Given the description of an element on the screen output the (x, y) to click on. 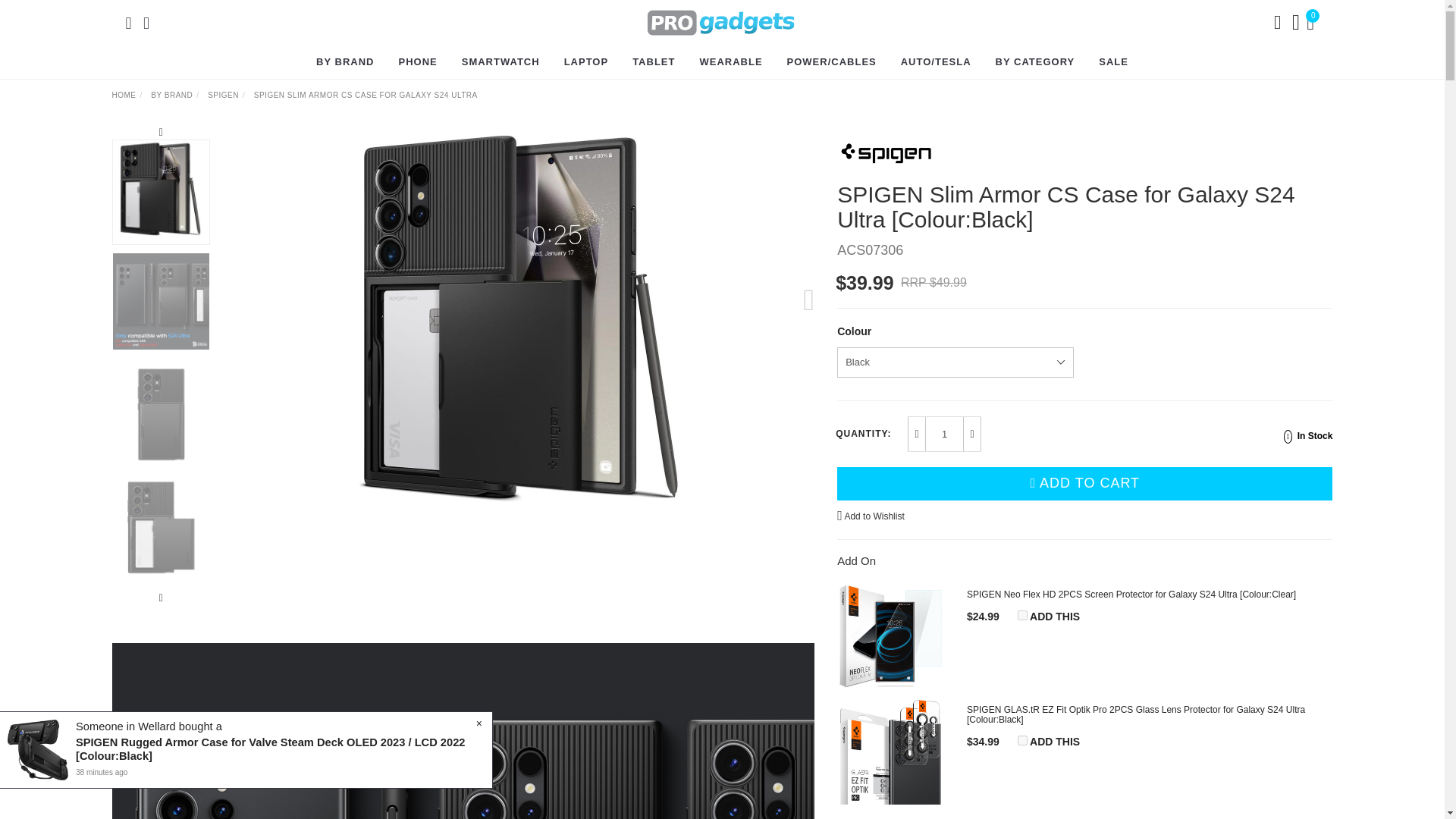
on (1022, 740)
PRO gadgets (721, 21)
BY BRAND (344, 61)
1 (943, 433)
on (1022, 614)
0 (1312, 21)
